Given the description of an element on the screen output the (x, y) to click on. 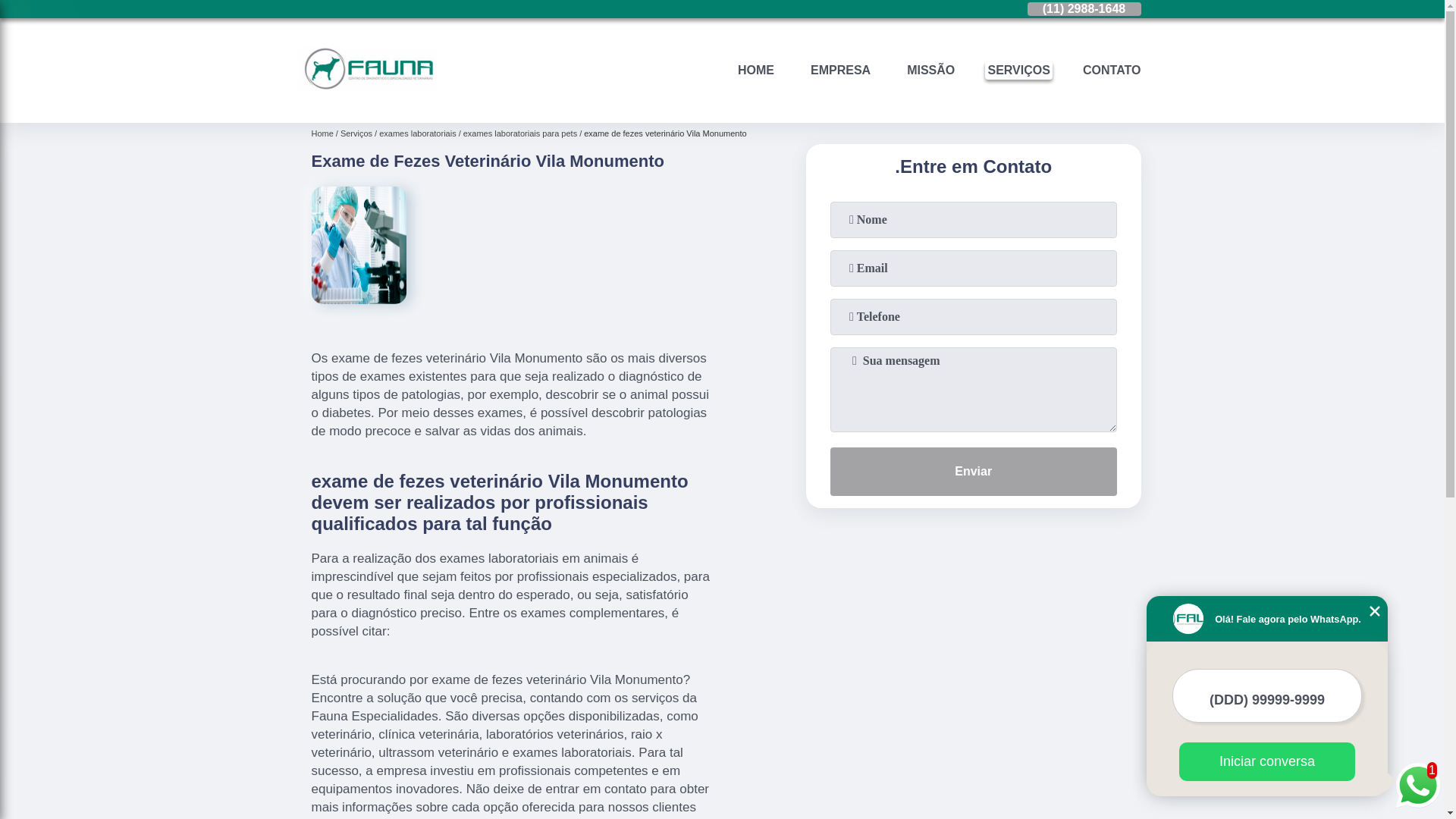
exames laboratoriais Element type: text (421, 133)
CONTATO Element type: text (1111, 69)
Logo - Fauna Especialidades Element type: hover (367, 68)
EMPRESA Element type: text (840, 69)
Iniciar conversa Element type: text (1267, 761)
HOME Element type: text (755, 69)
Home Element type: text (324, 133)
Enviar Element type: text (973, 471)
exames laboratoriais para pets Element type: text (523, 133)
1 Element type: text (1417, 786)
